Given the description of an element on the screen output the (x, y) to click on. 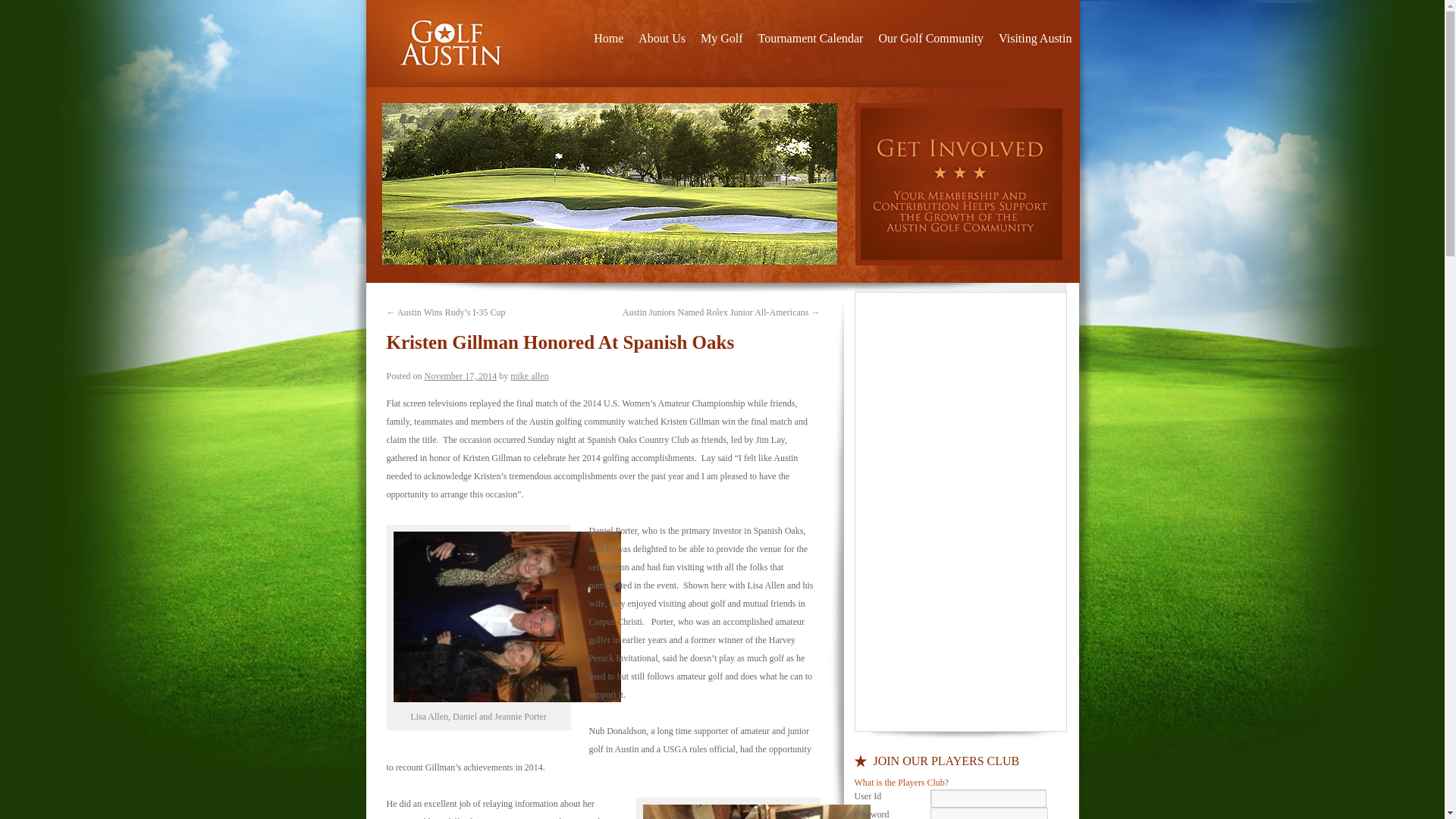
Get Involved (961, 183)
View all posts by mike allen (529, 376)
About Us (661, 38)
Tournament Calendar (810, 38)
November 17, 2014 (461, 376)
Our Golf Community (930, 38)
Golf Austin (453, 43)
Golf Austin (453, 43)
Home (608, 38)
5:53 pm (461, 376)
My Golf (722, 38)
Visiting Austin (1034, 38)
mike allen (529, 376)
